Given the description of an element on the screen output the (x, y) to click on. 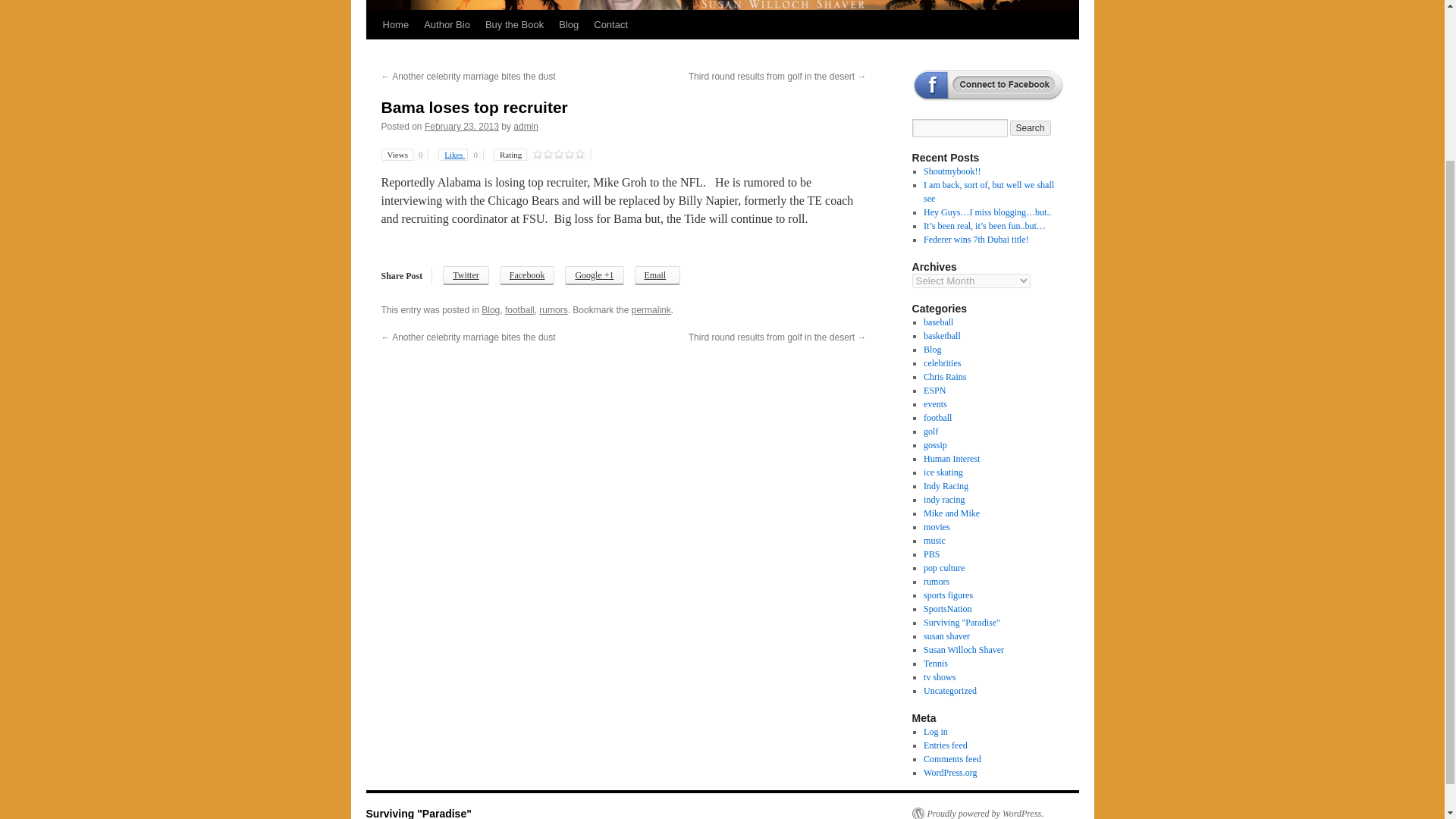
ESPN (933, 389)
Search (1030, 127)
Home (395, 24)
events (935, 403)
Buy the Book (514, 24)
Share by email to a friend (657, 275)
Chris Rains (944, 376)
admin (525, 126)
Likes 0 (460, 154)
baseball (938, 321)
